Given the description of an element on the screen output the (x, y) to click on. 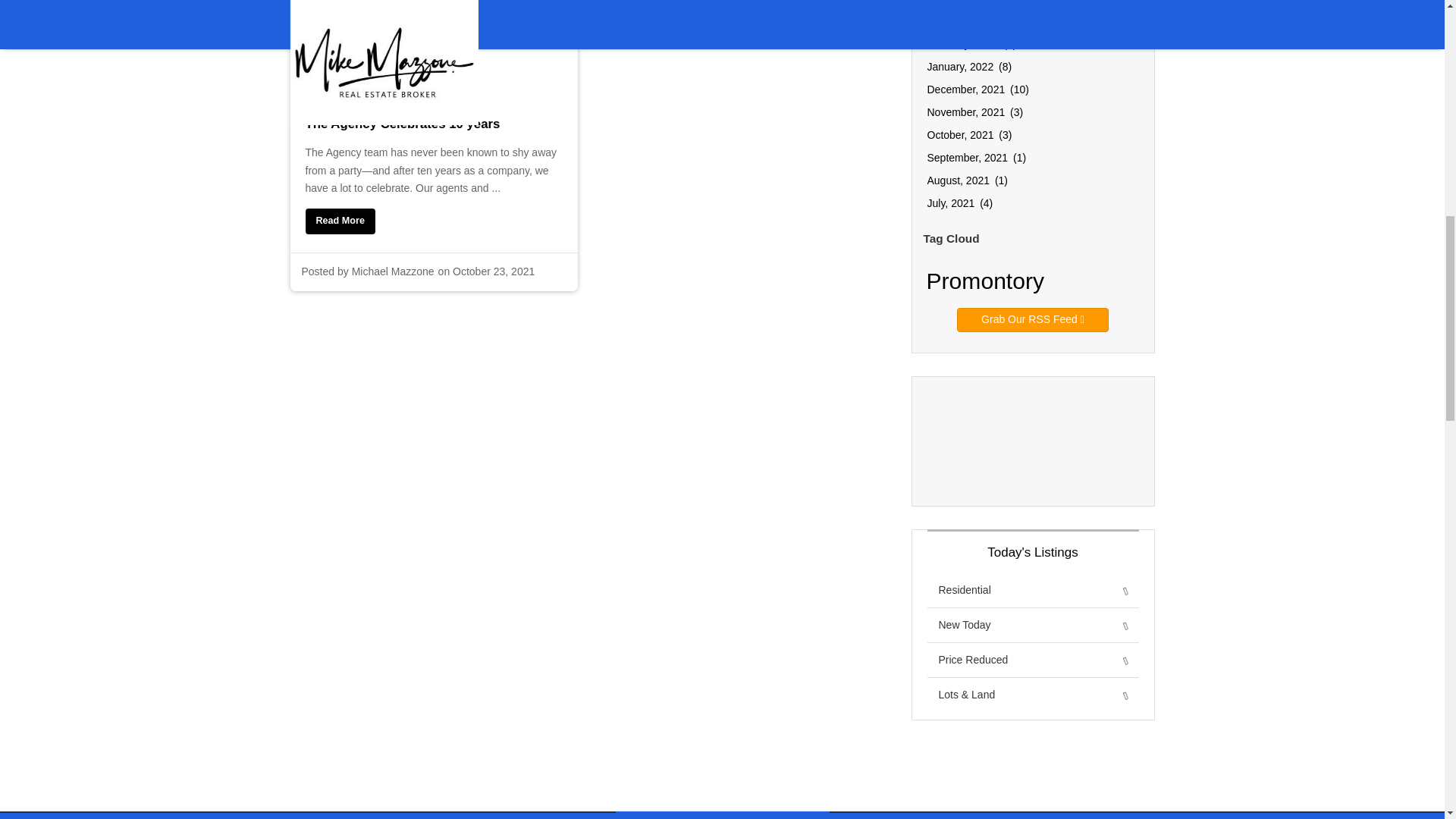
The Agency Celebrates 10 years (339, 221)
The Agency Celebrates 10 years (433, 136)
